Given the description of an element on the screen output the (x, y) to click on. 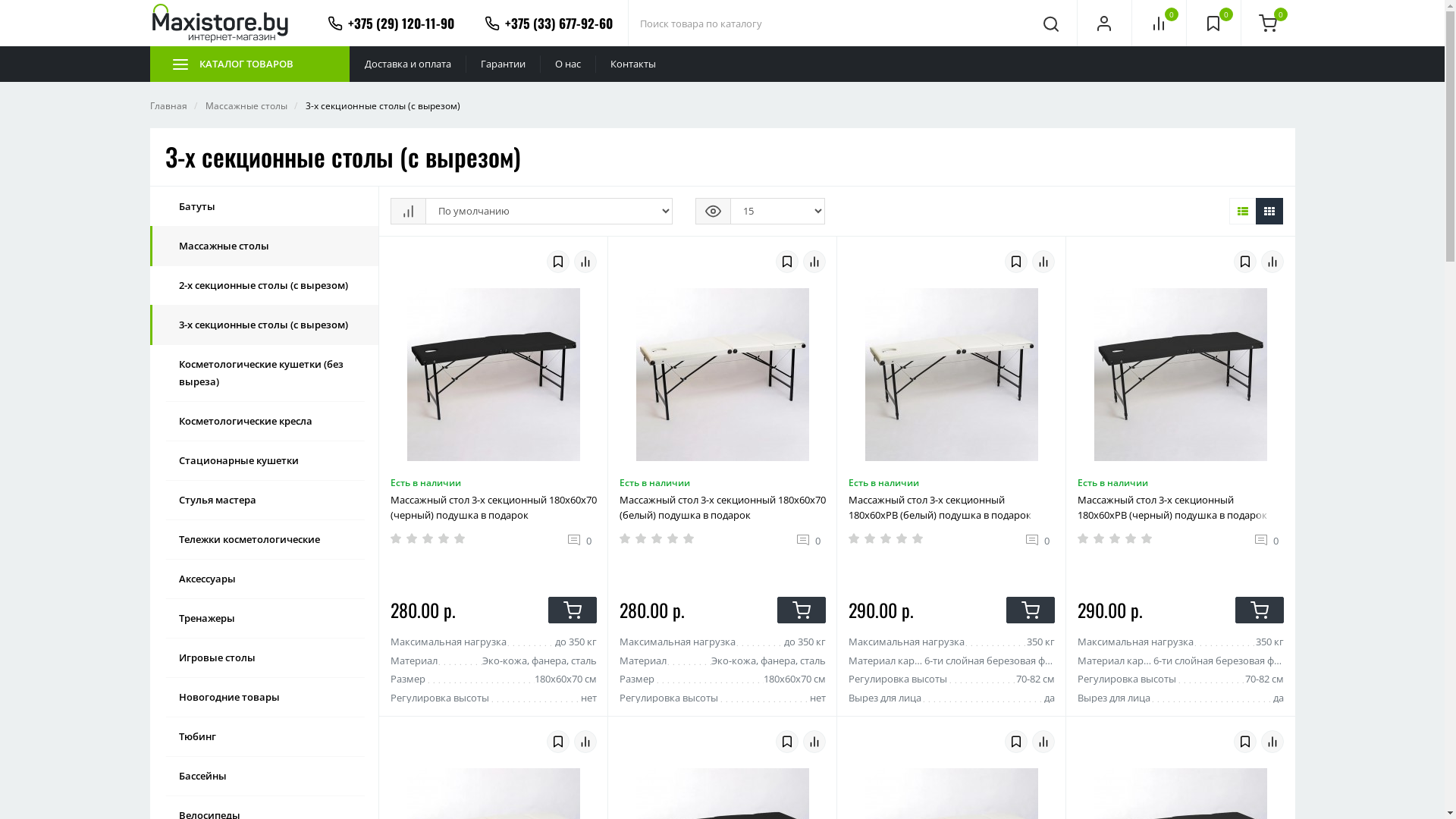
0 Element type: text (581, 539)
0 Element type: text (1158, 23)
0 Element type: text (1268, 539)
0 Element type: text (810, 539)
0 Element type: text (1212, 23)
+375 (33) 677-92-60 Element type: text (547, 23)
+375 (29) 120-11-90 Element type: text (390, 23)
0 Element type: text (1039, 539)
